Given the description of an element on the screen output the (x, y) to click on. 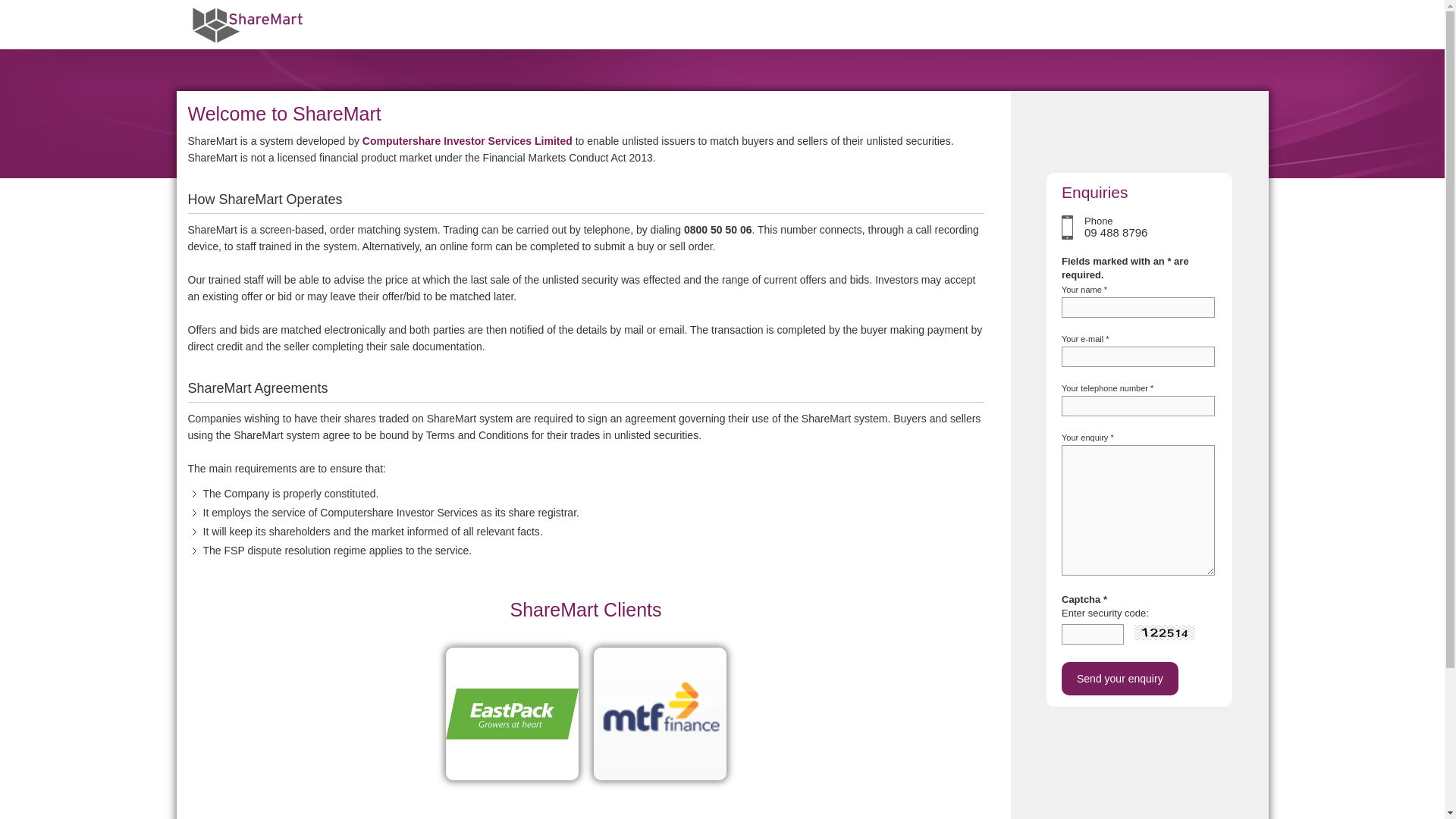
Investor Centre (1139, 148)
Computershare Investor Services Limited (467, 141)
MTF Vehicle Finance (658, 713)
EastPack Limited (511, 713)
Send your enquiry (1119, 678)
Ask Penny (1139, 118)
ShareMart - A Computershare Group Company (247, 24)
Send your enquiry (1119, 678)
